Given the description of an element on the screen output the (x, y) to click on. 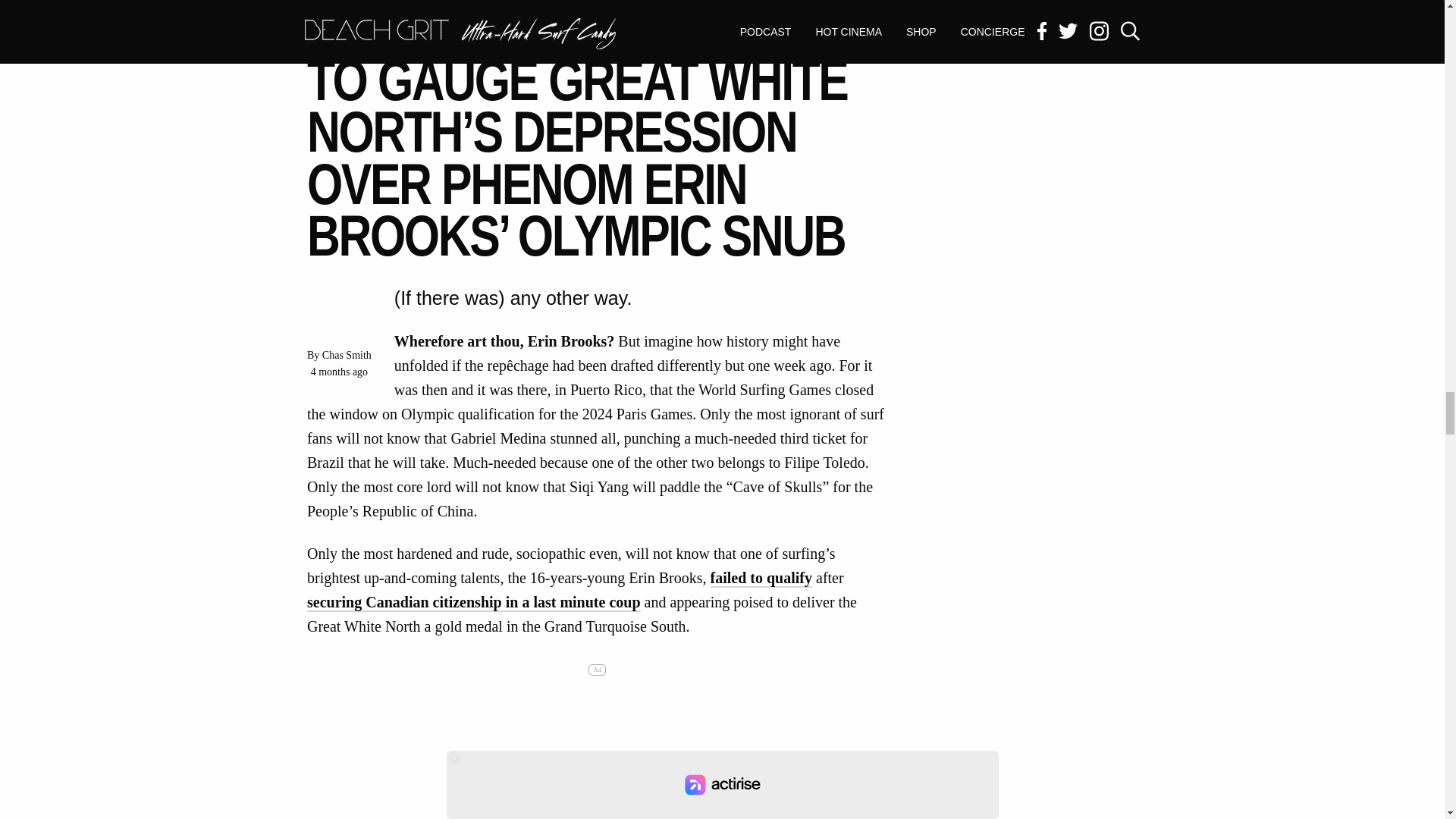
Chas Smith (346, 355)
